Given the description of an element on the screen output the (x, y) to click on. 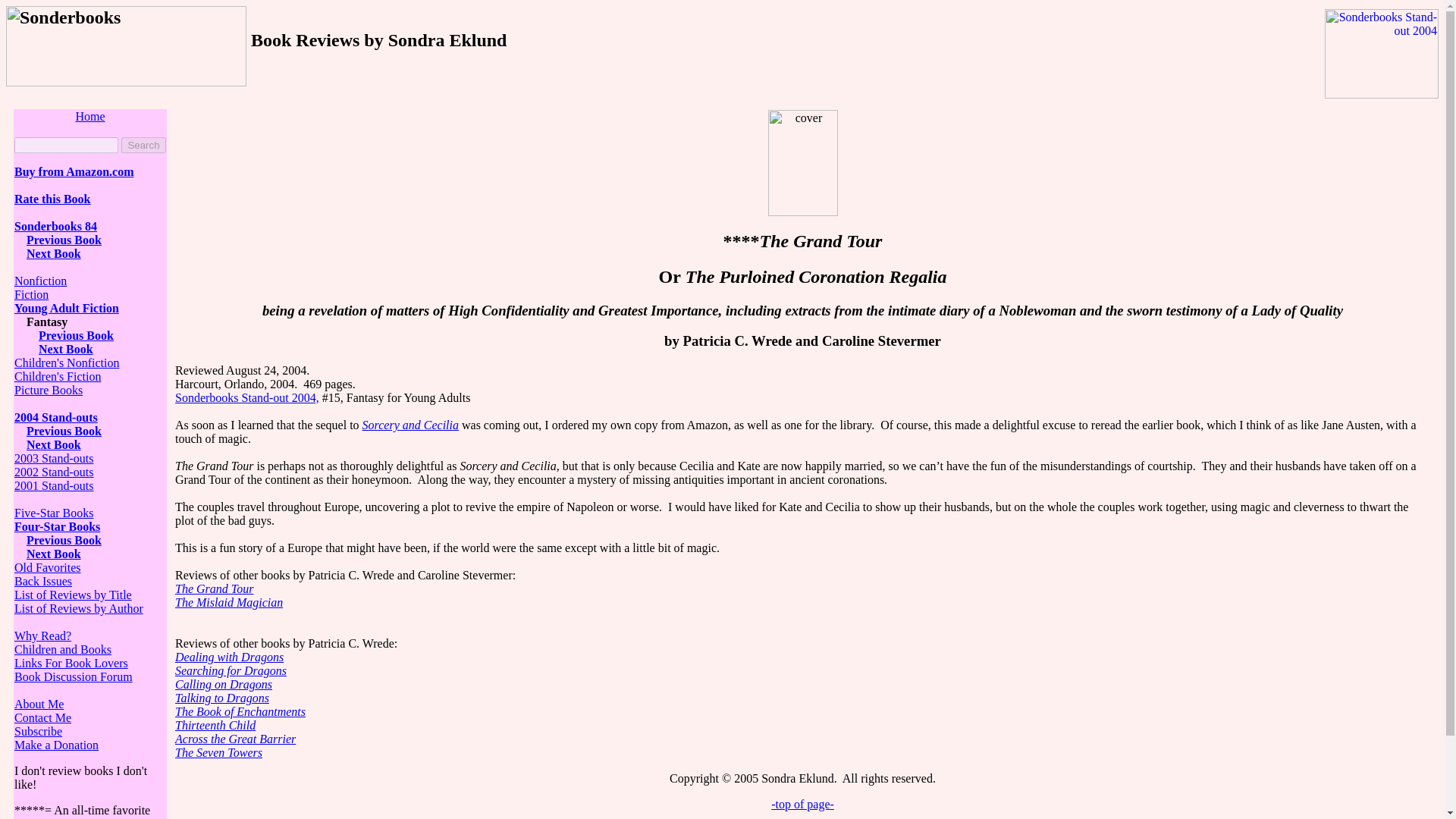
List of Reviews by Author (78, 608)
Four-Star Books (57, 526)
Previous Book (63, 431)
2002 Stand-outs (53, 472)
Children and Books (63, 649)
2004 Stand-outs (55, 417)
Buy from Amazon.com (73, 171)
Contact Me (42, 717)
Make a Donation (56, 744)
Old Favorites (47, 567)
